Given the description of an element on the screen output the (x, y) to click on. 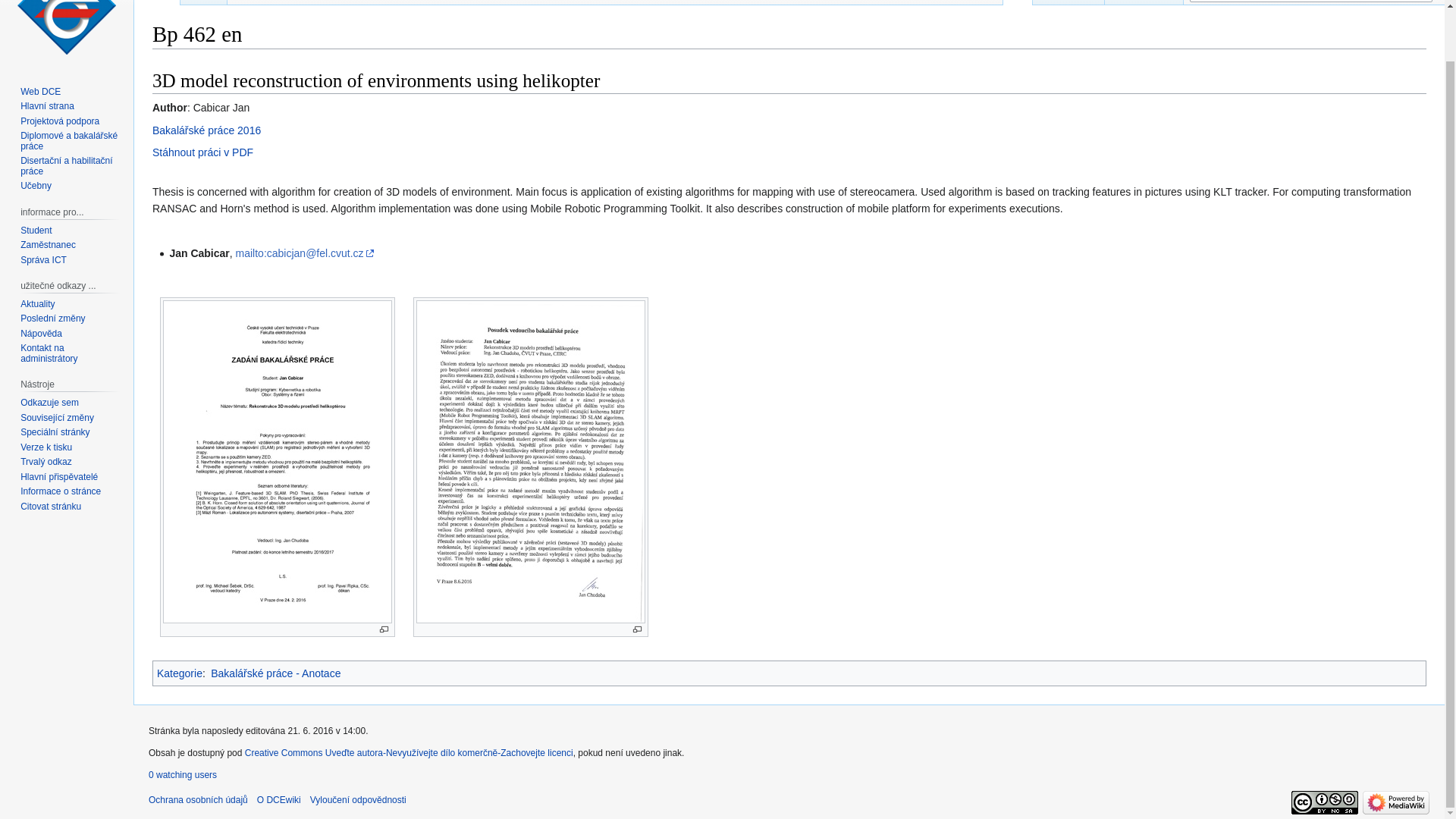
Odkazuje sem (49, 402)
Student (35, 230)
Zobrazit zdroj (1068, 2)
Hledat (1420, 0)
Hledat (1420, 0)
Hledat (1420, 0)
Web DCE (40, 91)
Diskuse (203, 2)
Aktuality (37, 303)
Zobrazit historii (1144, 2)
